Given the description of an element on the screen output the (x, y) to click on. 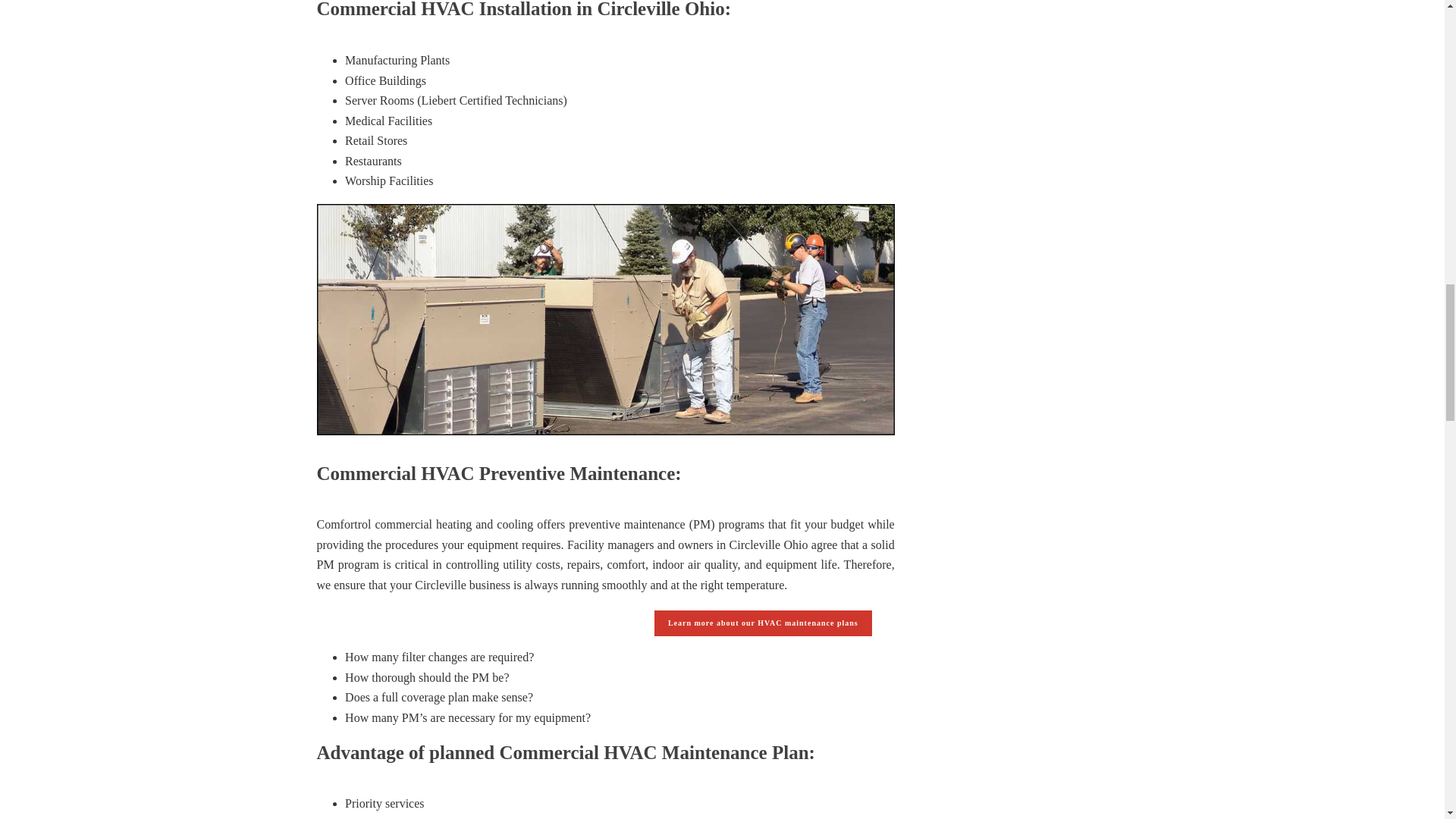
Learn more about our HVAC maintenance plans (762, 623)
picture-155 (606, 318)
